Given the description of an element on the screen output the (x, y) to click on. 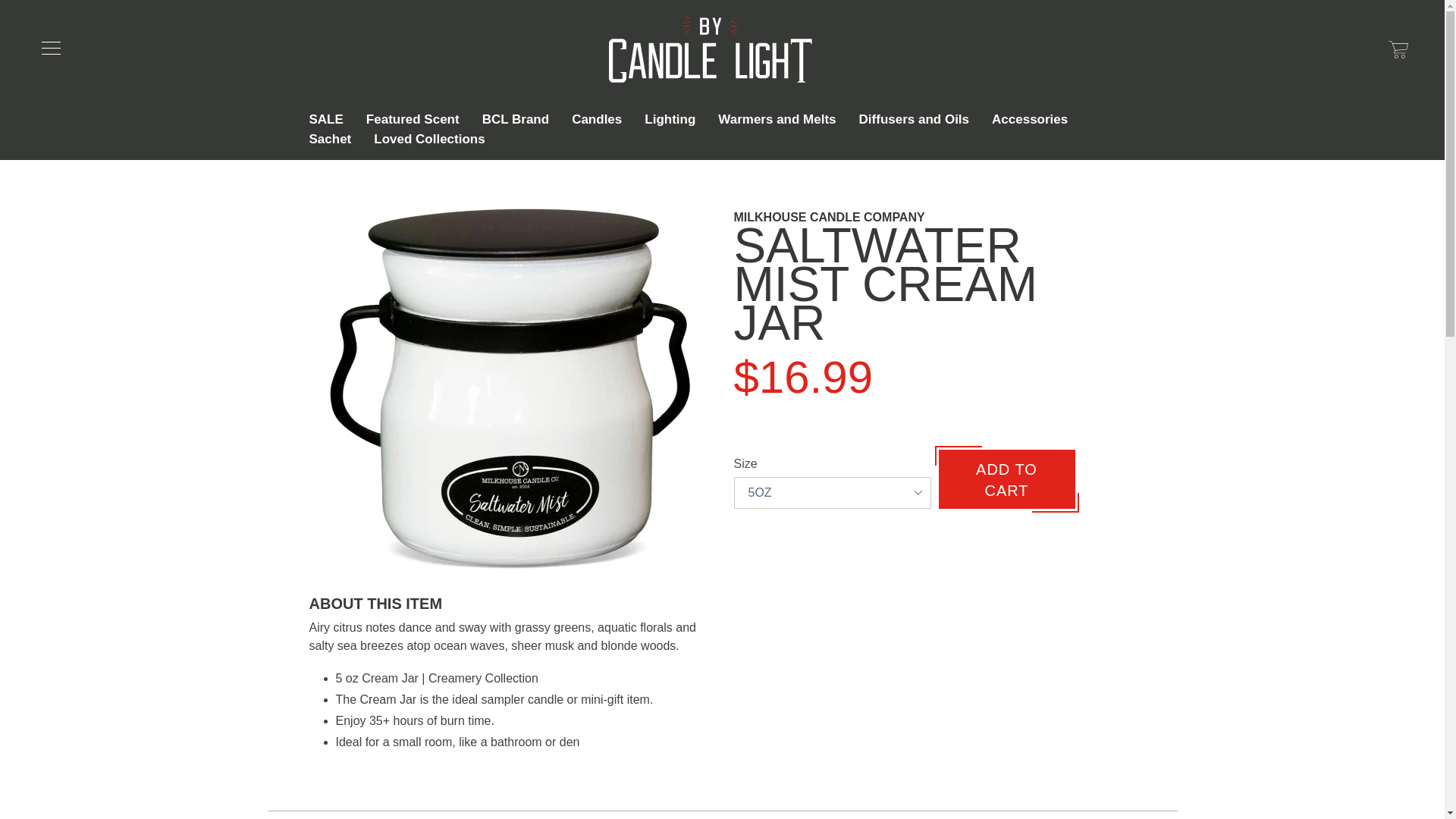
icon-cart-svg (1398, 49)
